Given the description of an element on the screen output the (x, y) to click on. 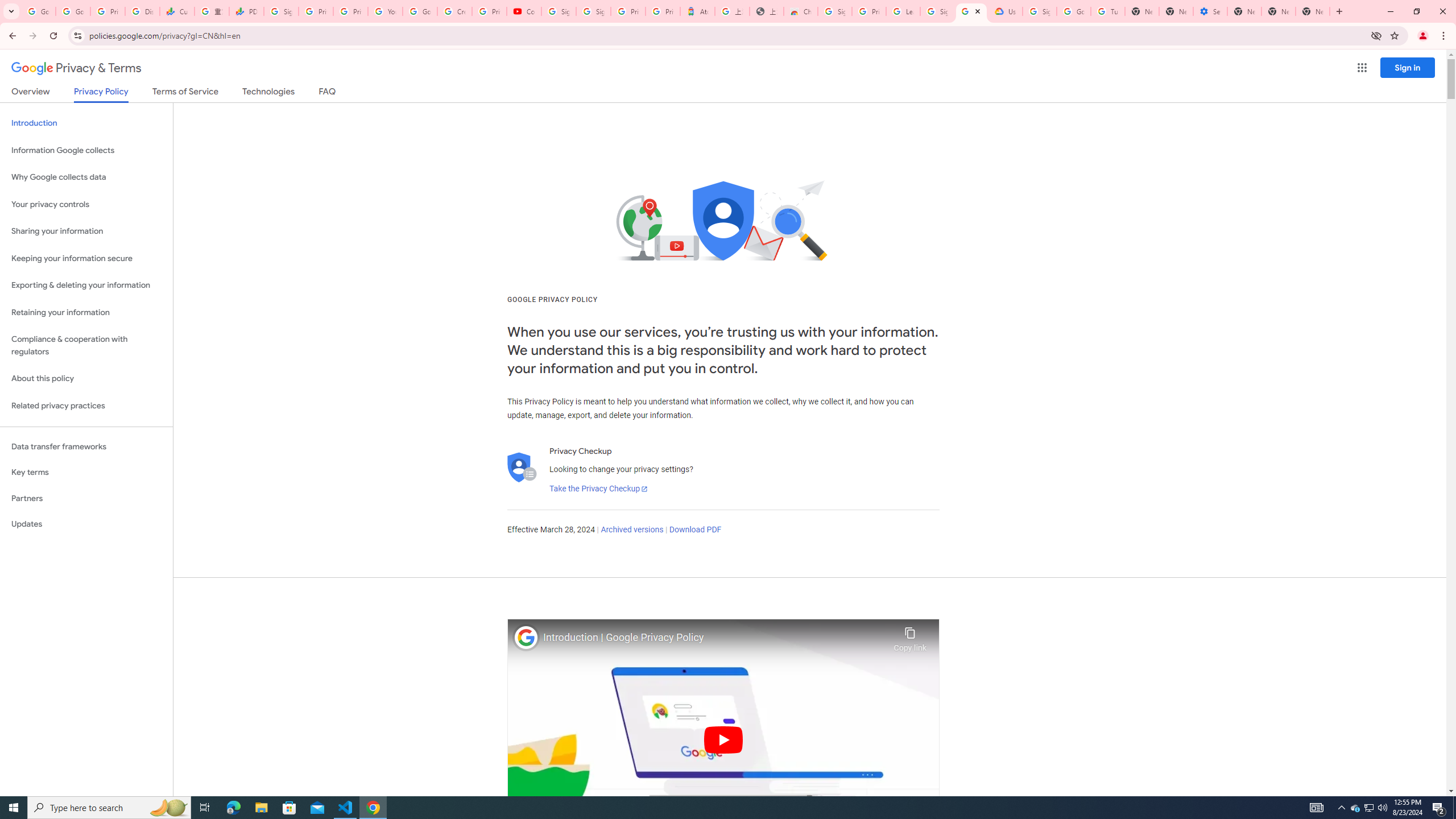
Content Creator Programs & Opportunities - YouTube Creators (524, 11)
Related privacy practices (86, 405)
Why Google collects data (86, 176)
Take the Privacy Checkup (597, 488)
Keeping your information secure (86, 258)
Currencies - Google Finance (176, 11)
Photo image of Google (526, 636)
